Given the description of an element on the screen output the (x, y) to click on. 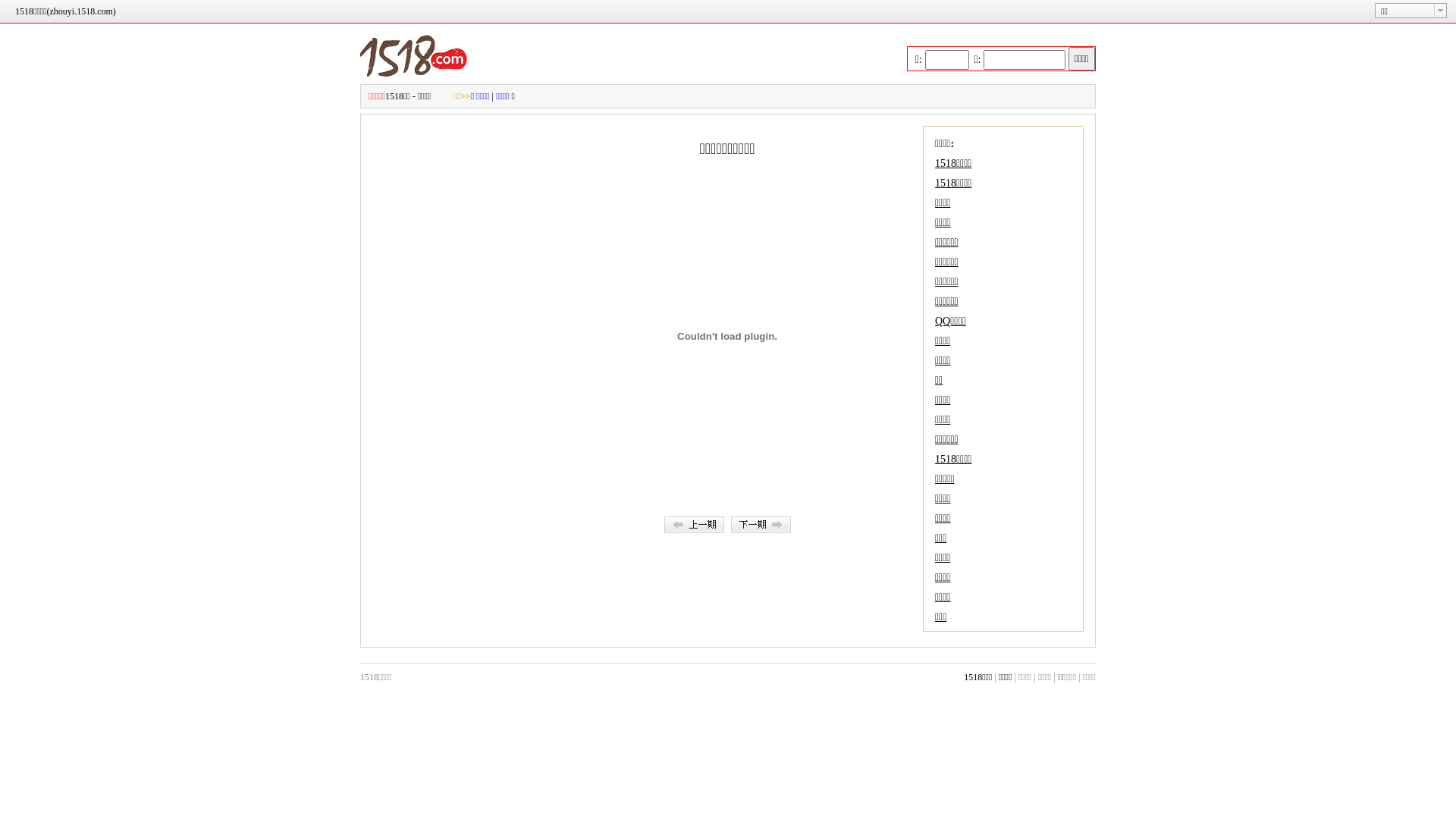
Advertisement Element type: hover (451, 352)
